Given the description of an element on the screen output the (x, y) to click on. 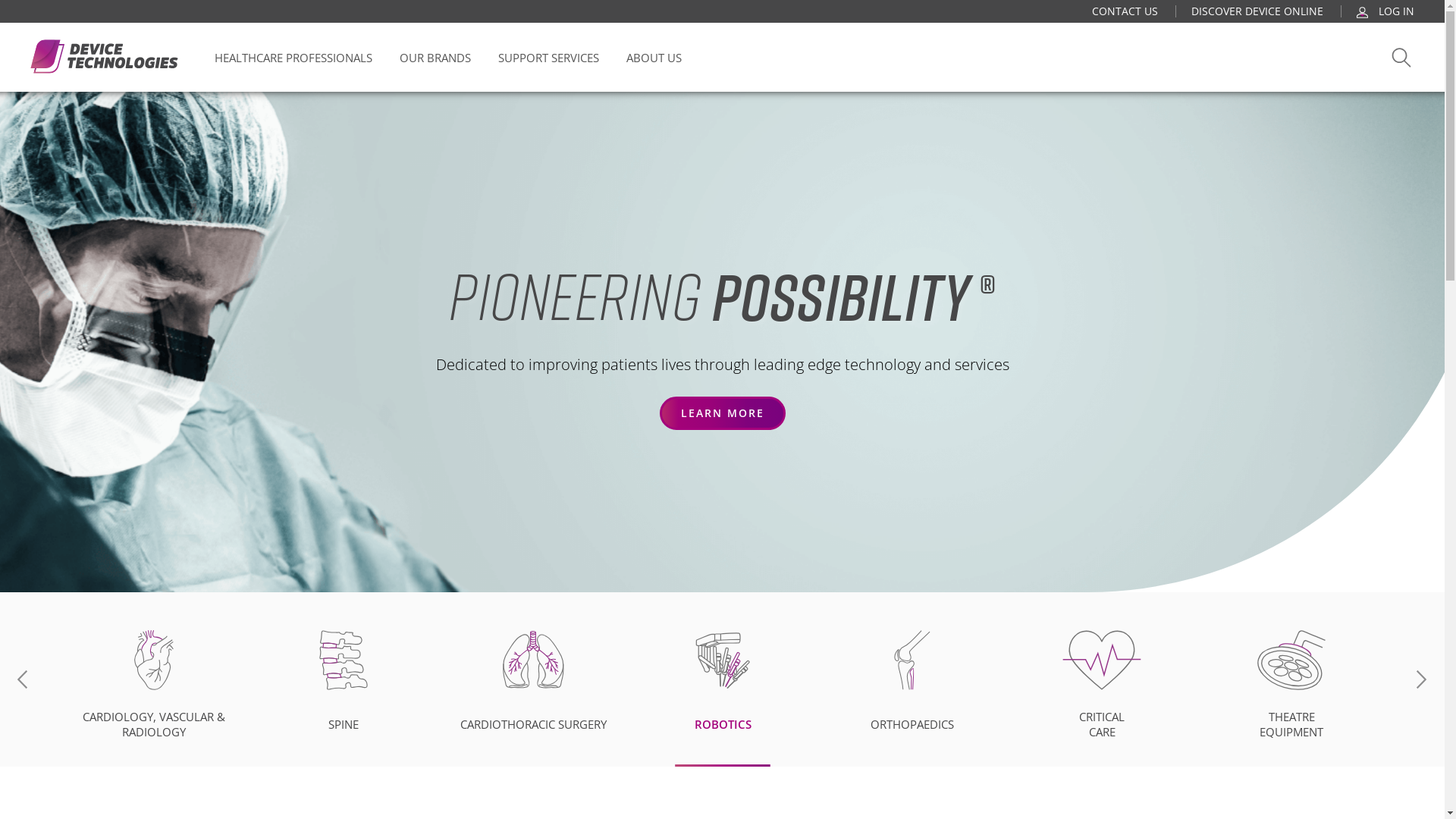
HEALTHCARE PROFESSIONALS Element type: text (293, 56)
OUR BRANDS Element type: text (434, 56)
LOG IN Element type: text (1385, 10)
SPINE Element type: text (343, 679)
THEATRE
EQUIPMENT Element type: text (1291, 679)
CONTACT US Element type: text (1124, 10)
SUPPORT SERVICES Element type: text (548, 56)
LEARN MORE Element type: text (722, 412)
CARDIOTHORACIC SURGERY Element type: text (532, 679)
ORTHOPAEDICS Element type: text (912, 679)
CARDIOLOGY, VASCULAR & RADIOLOGY Element type: text (153, 679)
ABOUT US Element type: text (653, 56)
ROBOTICS Element type: text (722, 679)
CRITICAL
CARE Element type: text (1101, 679)
DISCOVER DEVICE ONLINE Element type: text (1257, 10)
